Given the description of an element on the screen output the (x, y) to click on. 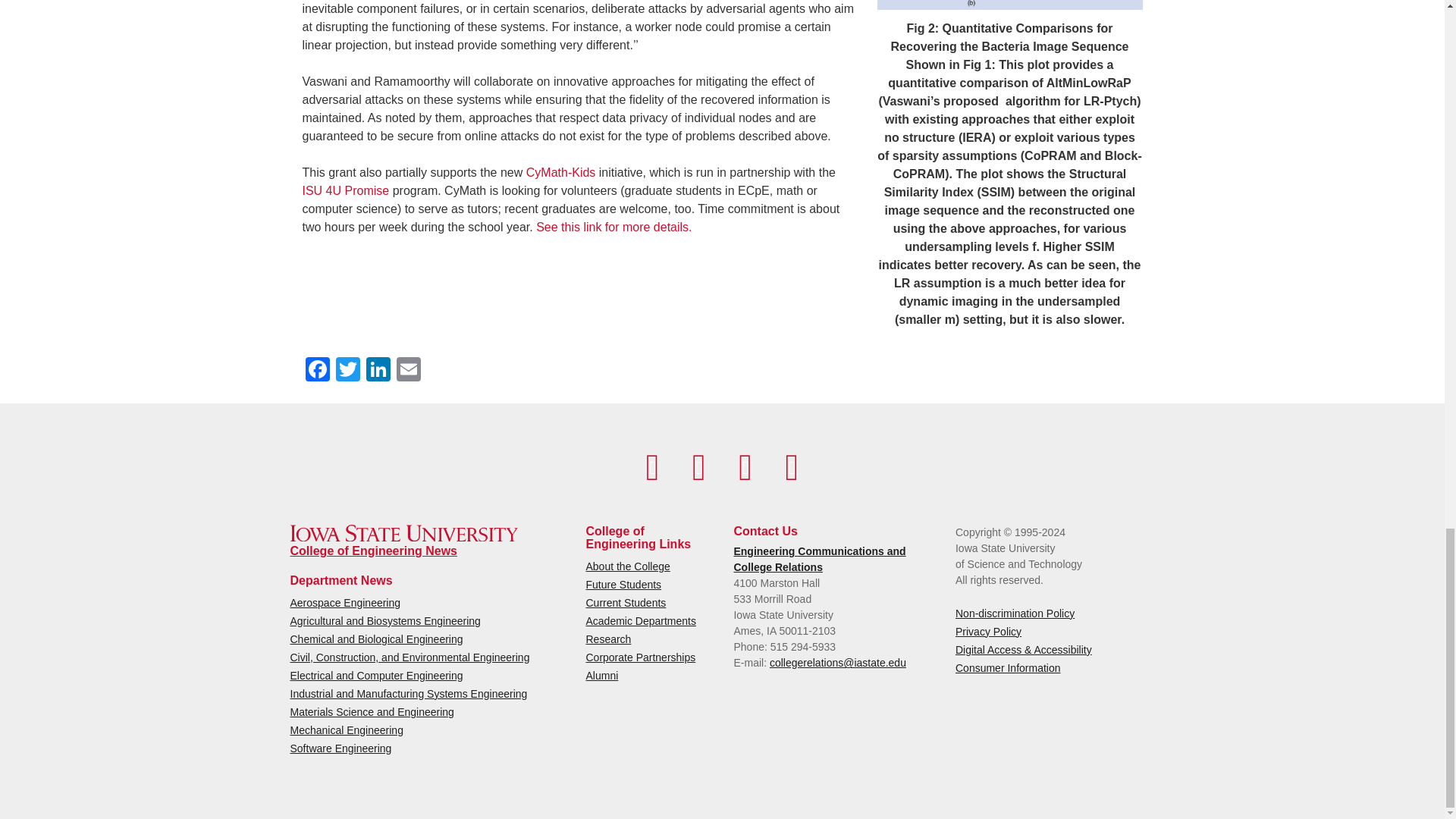
YouTube (698, 467)
Facebook (316, 370)
Instagram (745, 467)
Email (408, 370)
LinkedIn (377, 370)
Twitter (346, 370)
Iowa State University (402, 533)
MyState (791, 467)
Facebook (651, 467)
